Given the description of an element on the screen output the (x, y) to click on. 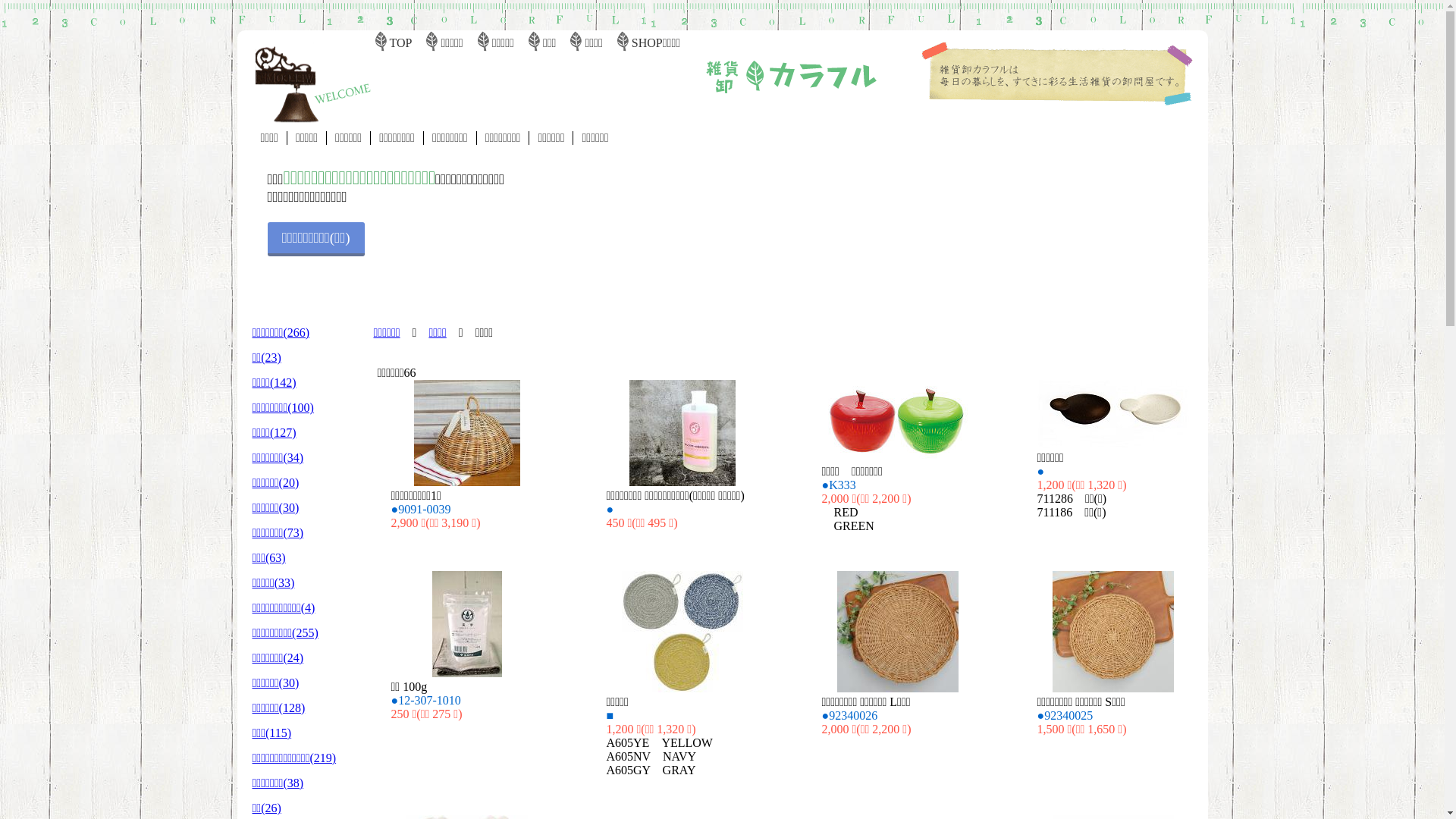
TOP Element type: text (400, 42)
